Given the description of an element on the screen output the (x, y) to click on. 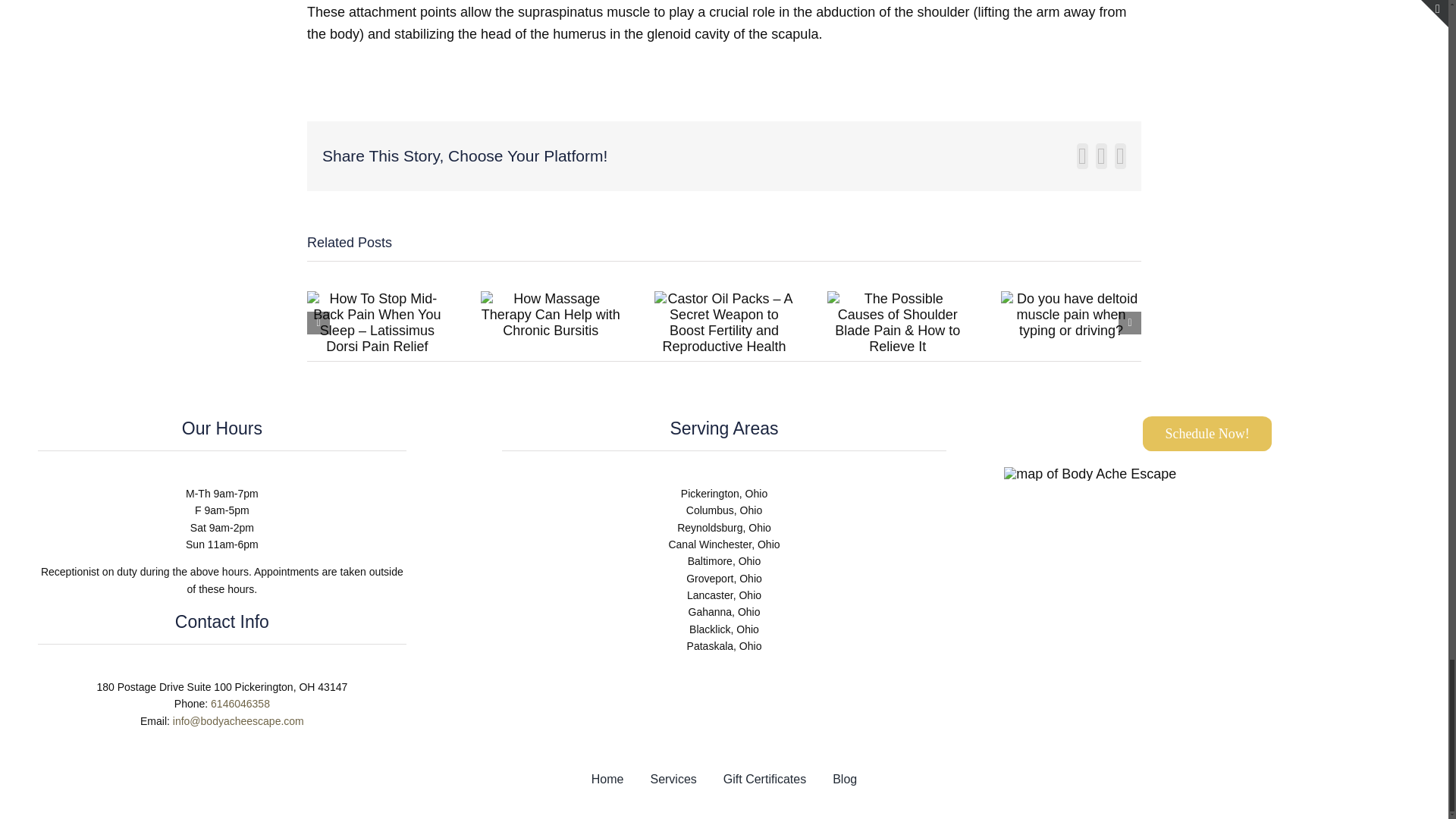
map (1090, 473)
